Given the description of an element on the screen output the (x, y) to click on. 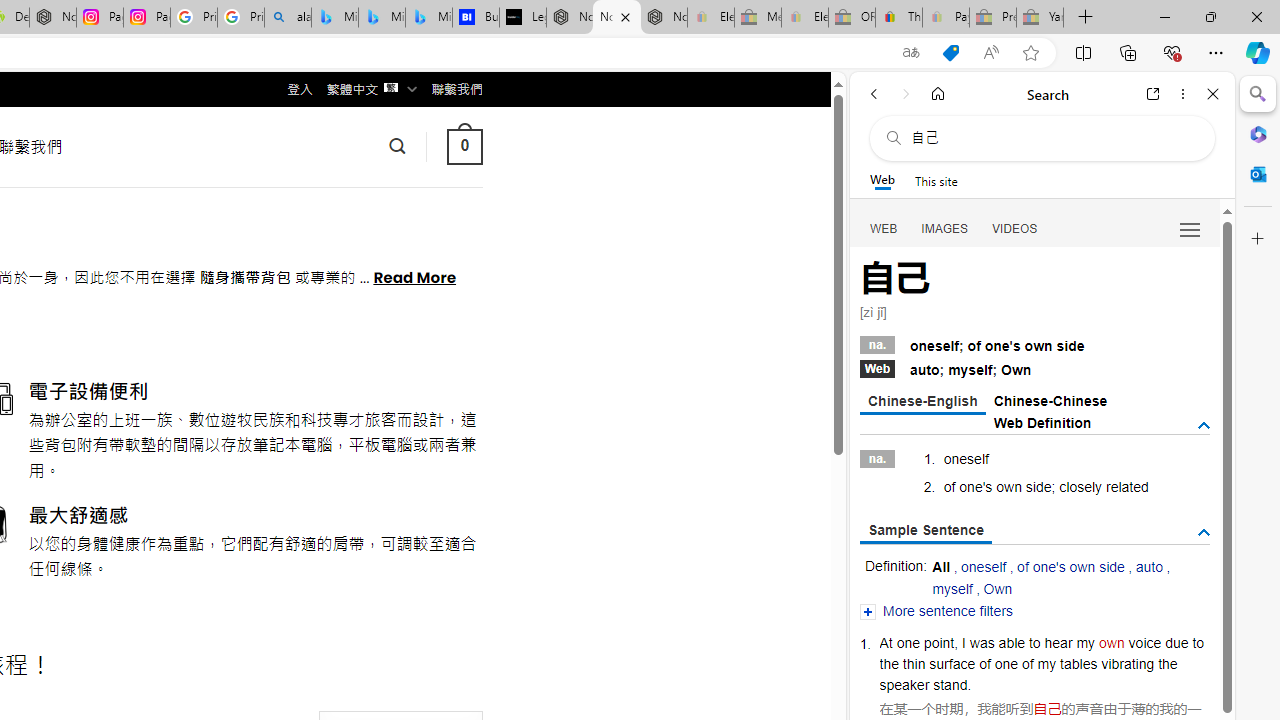
surface (952, 663)
. (968, 684)
one (1006, 663)
hear (1058, 642)
 0  (464, 146)
Microsoft Bing Travel - Shangri-La Hotel Bangkok (428, 17)
Chinese-Chinese (1050, 400)
